Given the description of an element on the screen output the (x, y) to click on. 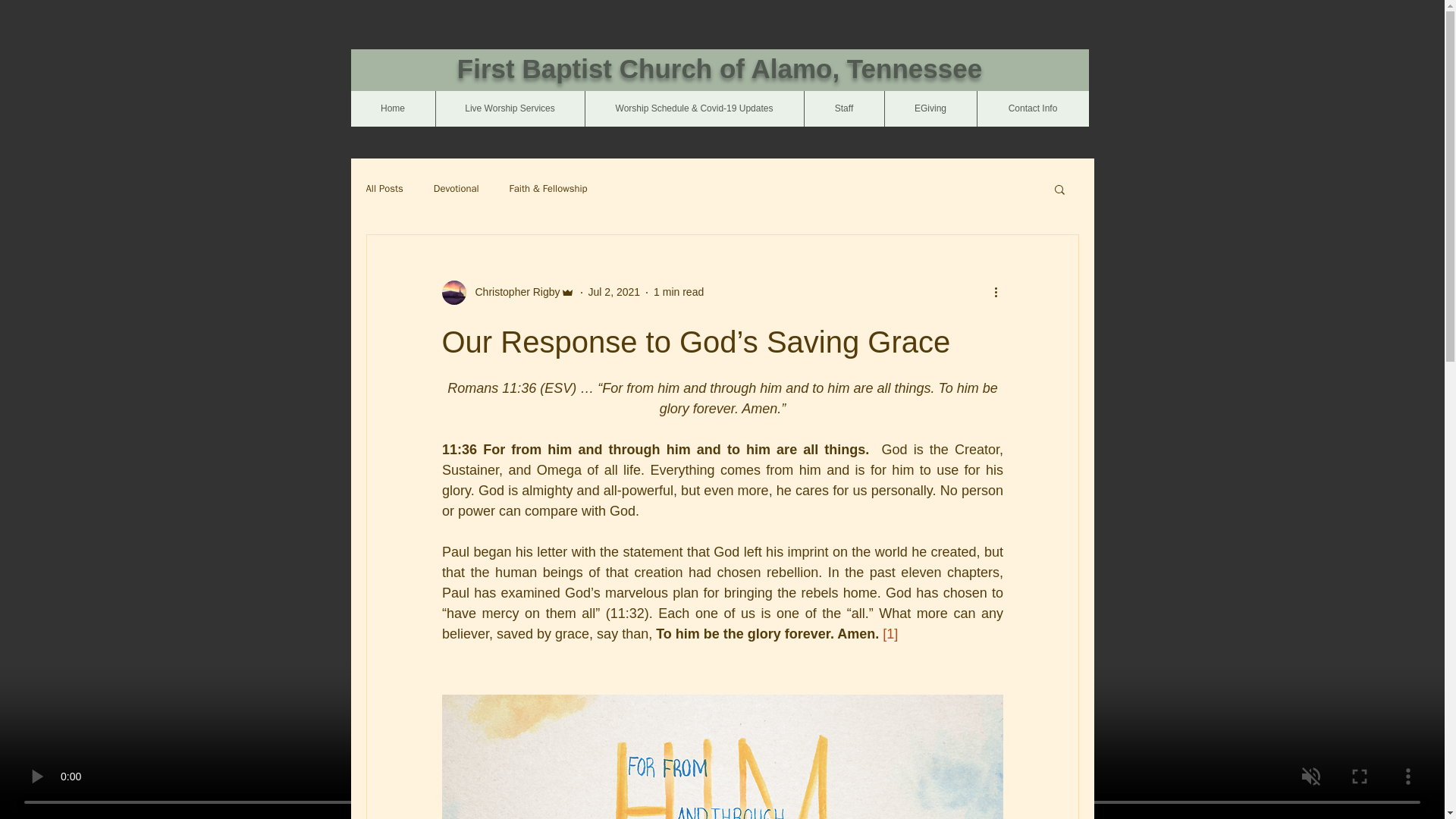
Jul 2, 2021 (614, 291)
Christopher Rigby (507, 292)
Devotional (456, 188)
Contact Info (1032, 108)
Home (391, 108)
1 min read (678, 291)
Staff (843, 108)
Christopher Rigby (512, 292)
Live Worship Services (510, 108)
All Posts (384, 188)
EGiving (929, 108)
